Given the description of an element on the screen output the (x, y) to click on. 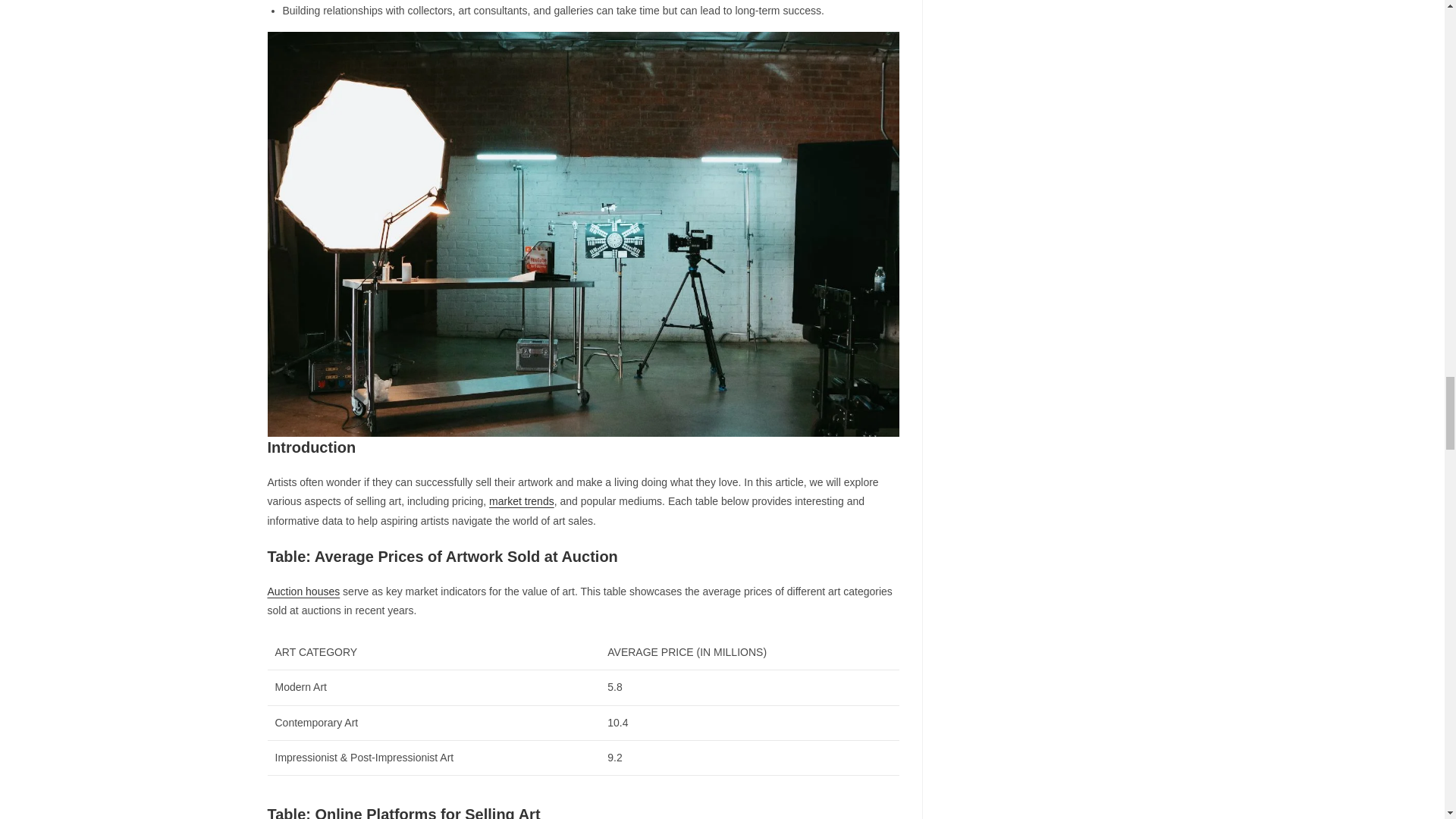
Auction houses (302, 591)
market trends (521, 500)
